Given the description of an element on the screen output the (x, y) to click on. 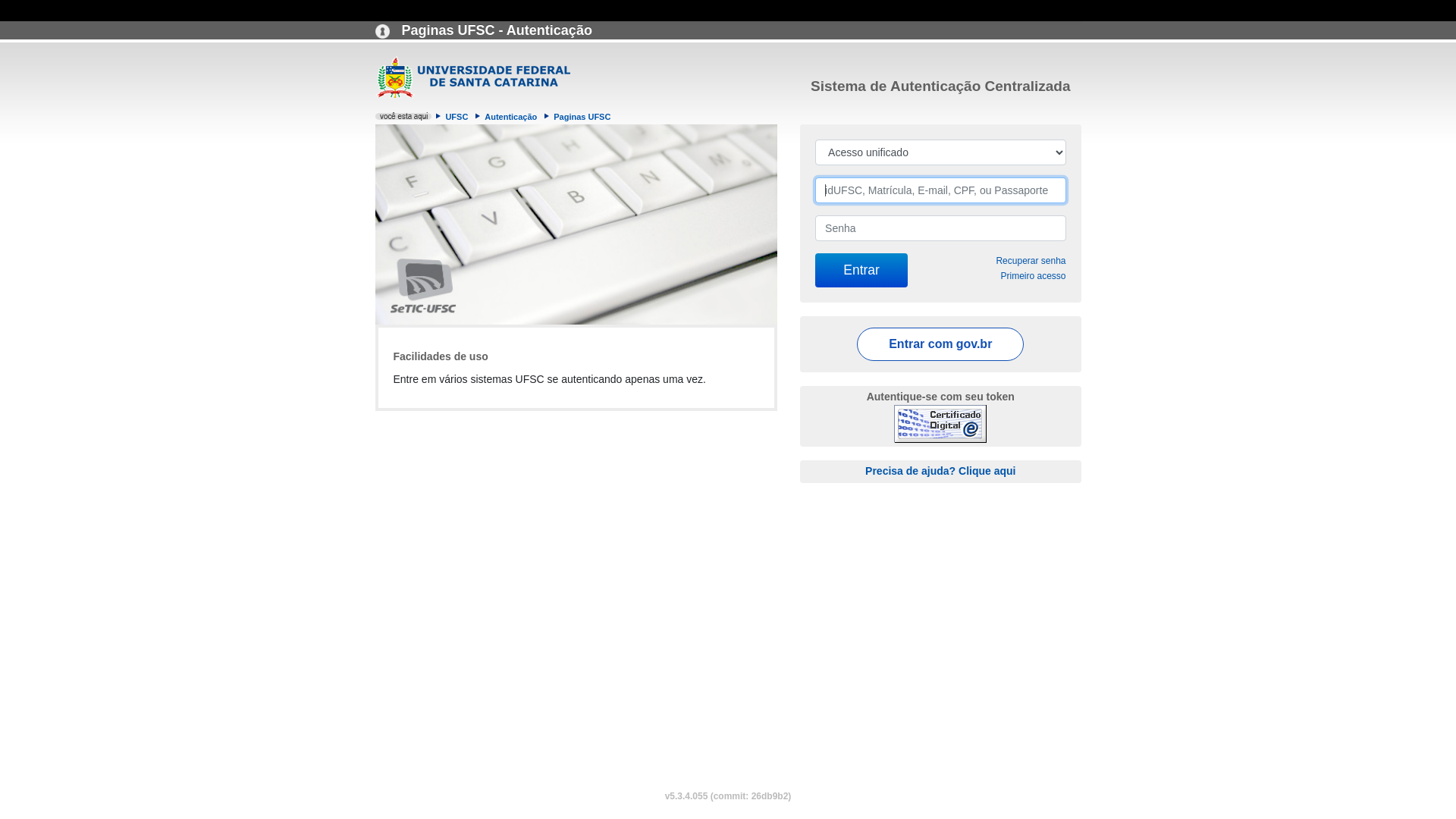
Primeiro acesso Element type: text (1032, 275)
Paginas UFSC Element type: text (581, 116)
Entrar com
gov.br Element type: text (939, 343)
Recuperar senha Element type: text (1030, 260)
UFSC Element type: text (456, 116)
Precisa de ajuda? Clique aqui Element type: text (940, 470)
Entrar Element type: text (861, 270)
